Given the description of an element on the screen output the (x, y) to click on. 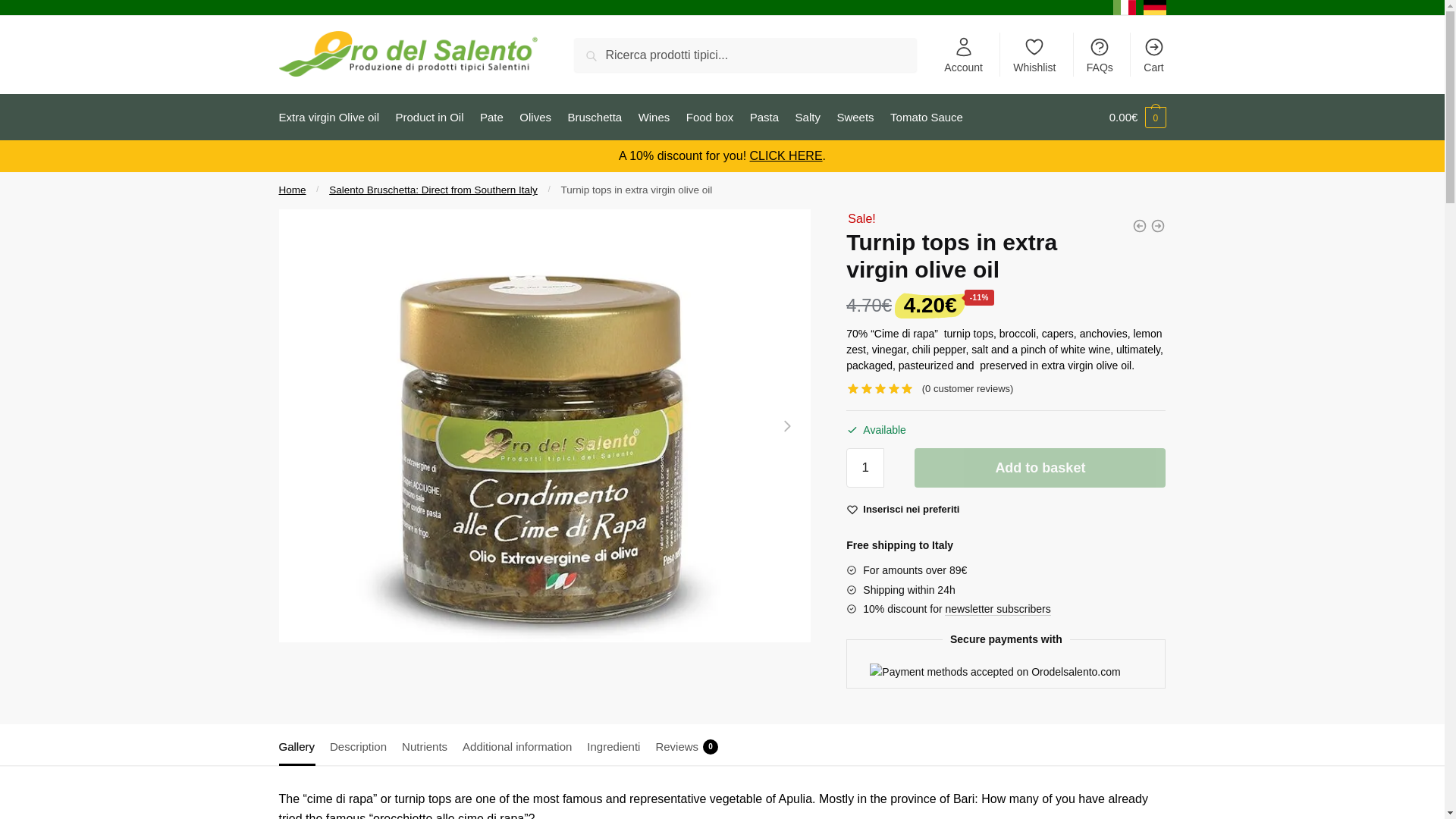
Product in Oil (429, 117)
Tomato Sauce (926, 117)
Bruschetta (593, 117)
Home (292, 189)
FAQs (1099, 54)
CLICK HERE (785, 155)
Sweets (854, 117)
Olives (535, 117)
Account (962, 54)
